Given the description of an element on the screen output the (x, y) to click on. 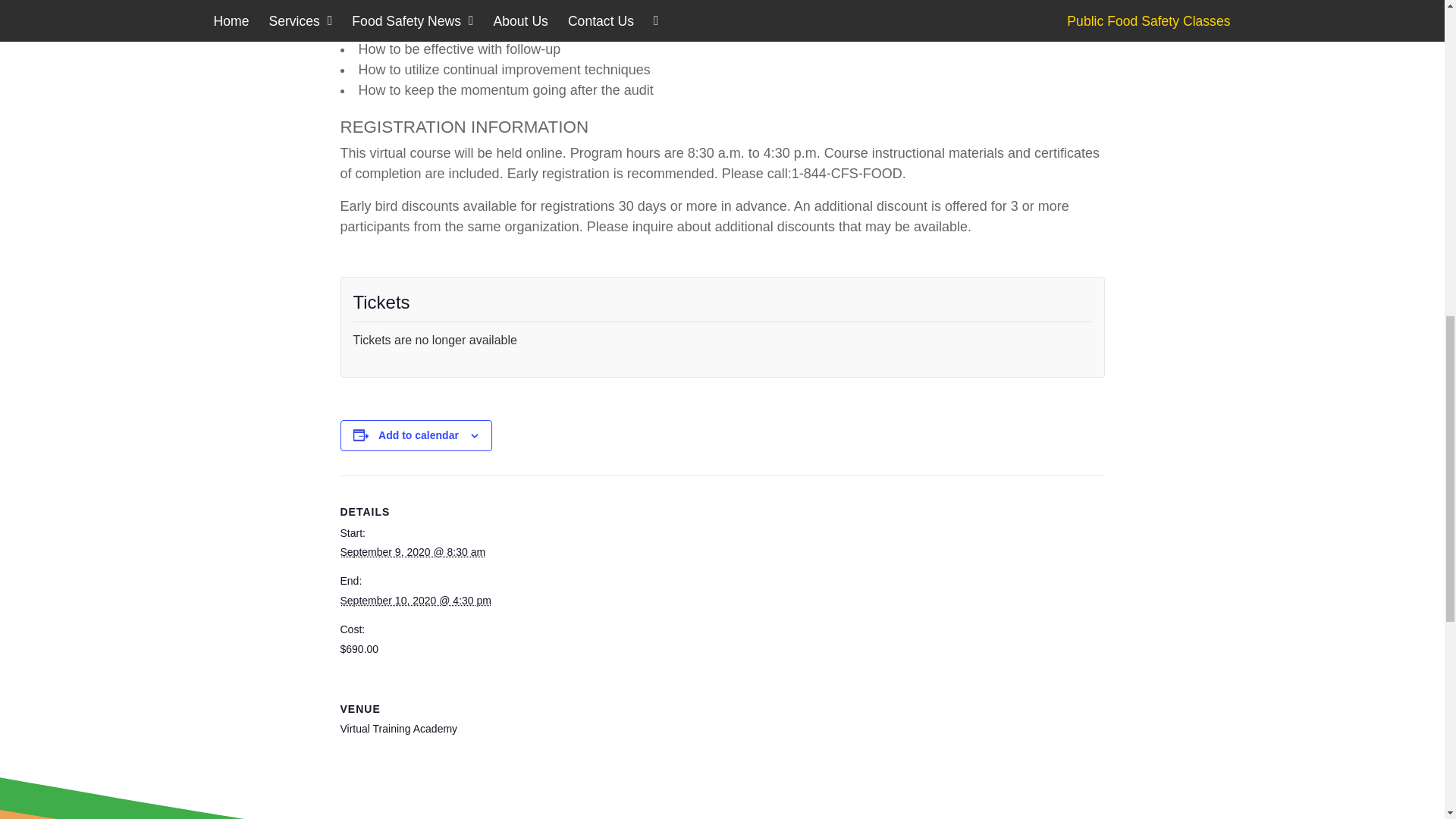
2020-09-10 (414, 600)
2020-09-09 (411, 551)
